Given the description of an element on the screen output the (x, y) to click on. 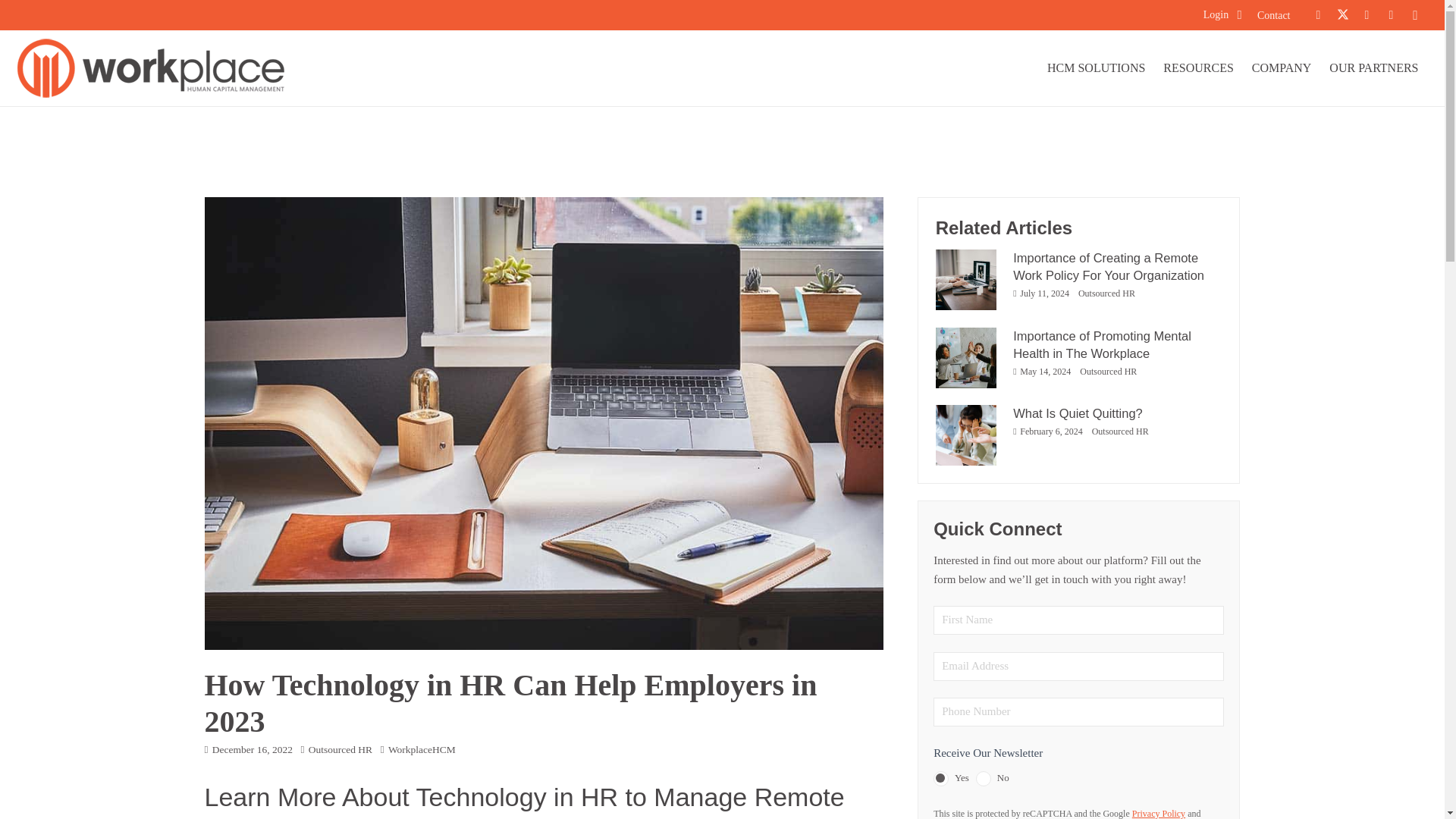
LinkedIn (1366, 15)
HCM SOLUTIONS (1096, 68)
Instagram (1414, 15)
Contact (1273, 14)
Login (1222, 14)
Twitter (1342, 15)
No (983, 778)
COMPANY (1281, 68)
OUR PARTNERS (1373, 68)
YouTube (1390, 15)
